Given the description of an element on the screen output the (x, y) to click on. 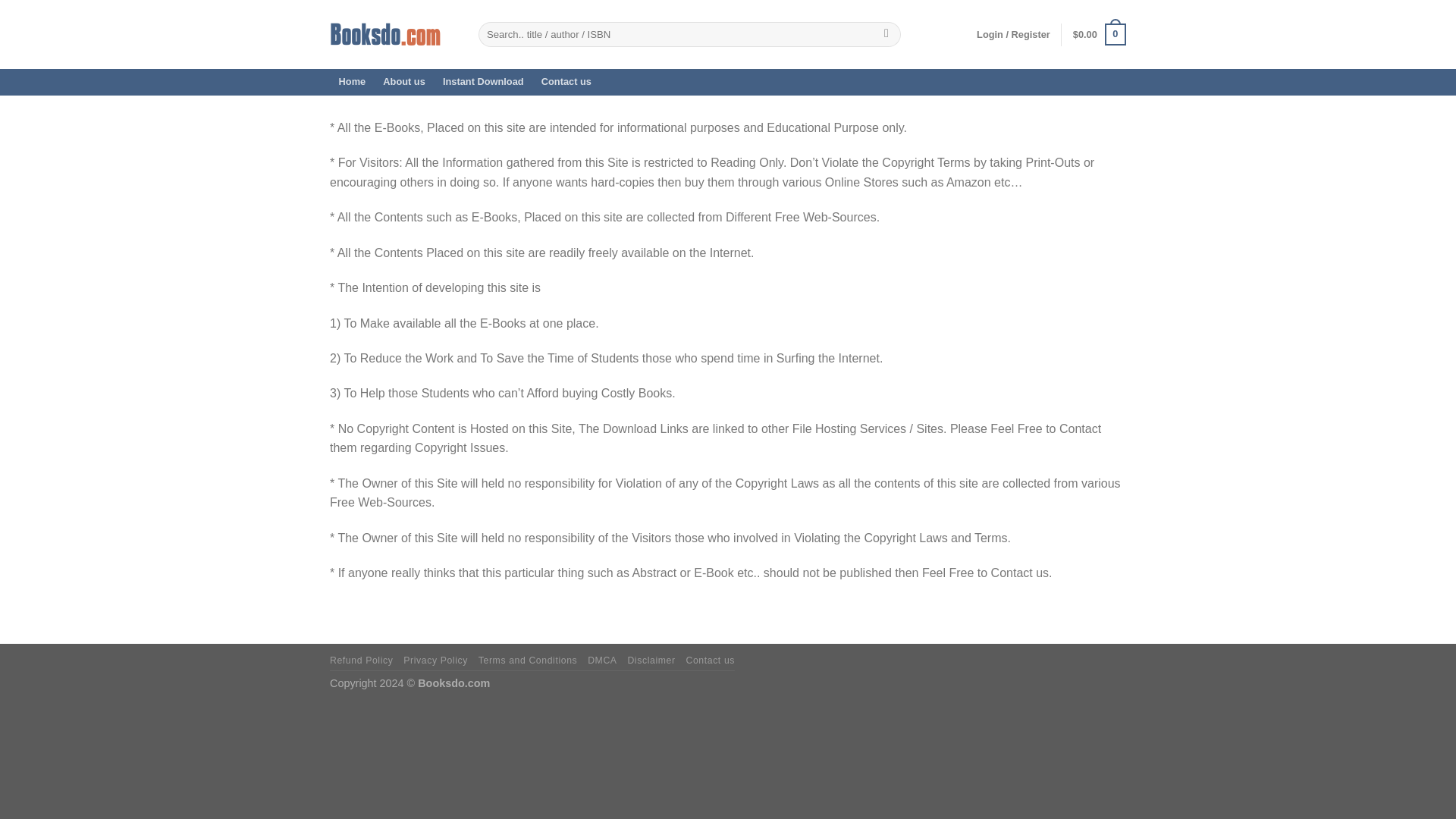
About us (403, 81)
Contact us (710, 660)
Refund Policy (361, 660)
DMCA (601, 660)
Home (352, 81)
Cart (1099, 34)
Instant Download (482, 81)
Privacy Policy (435, 660)
Terms and Conditions (528, 660)
